Given the description of an element on the screen output the (x, y) to click on. 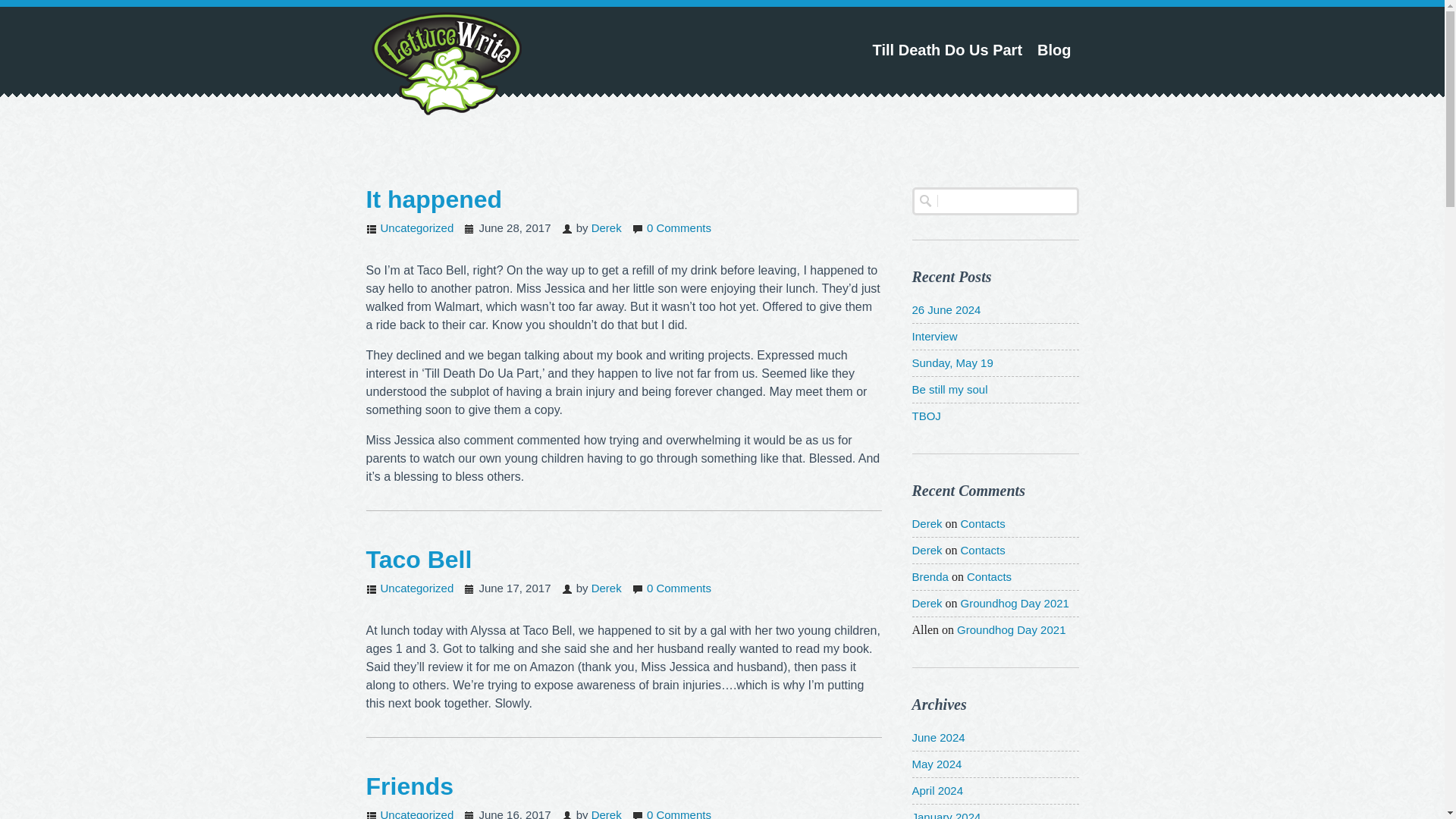
Contacts (988, 576)
Comment on Taco Bell (678, 588)
Taco Bell (418, 559)
Posts by Derek (606, 228)
Comment on It happened (678, 228)
Interview (933, 336)
View all posts in Uncategorized (417, 228)
Groundhog Day 2021 (1010, 629)
View all posts in Uncategorized (417, 588)
It happened (433, 198)
